Given the description of an element on the screen output the (x, y) to click on. 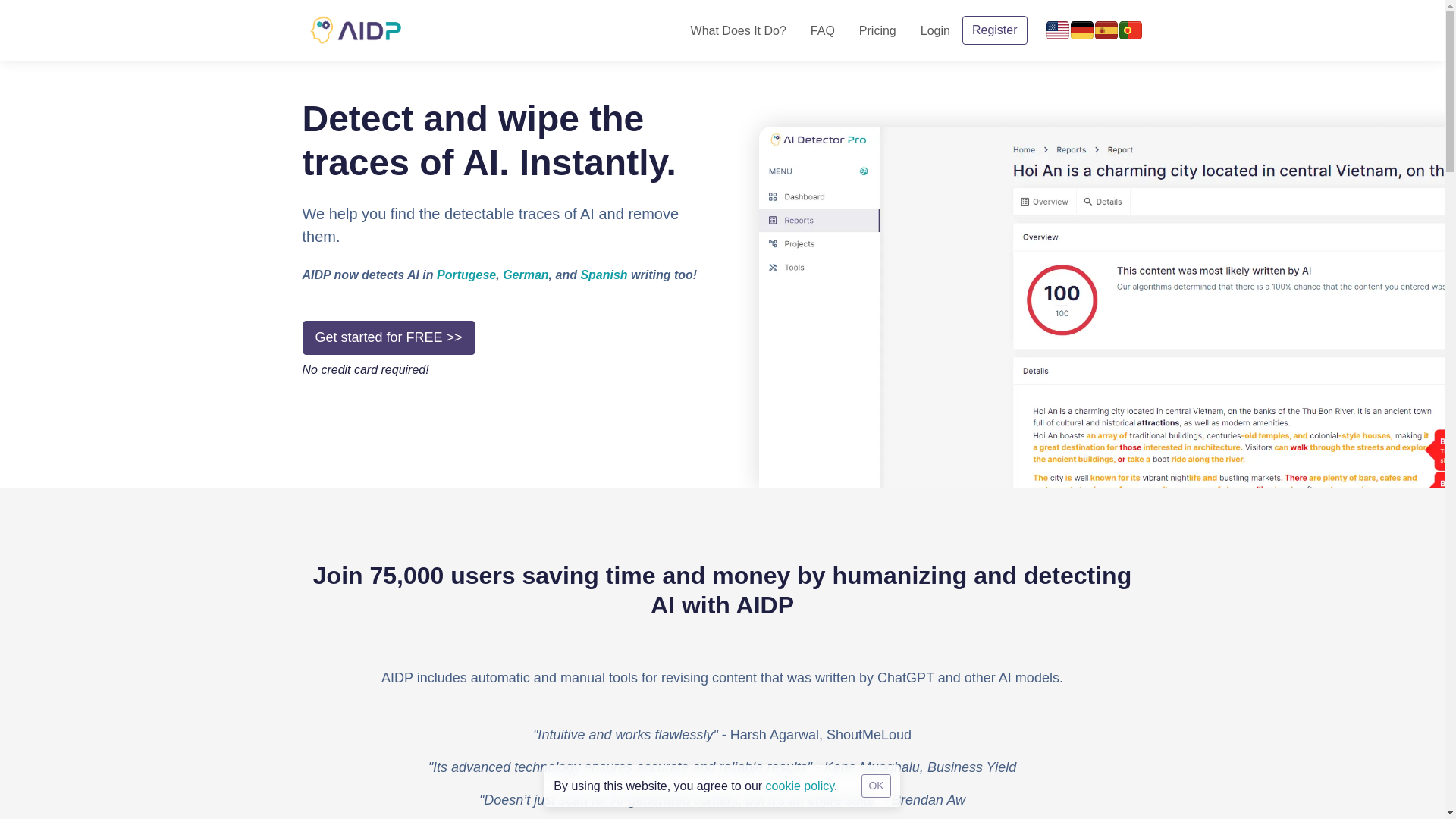
What Does It Do? (737, 28)
Login (935, 28)
Spanish (603, 274)
What Does It Do? (737, 28)
FAQ (822, 28)
Pricing (877, 28)
Register (994, 30)
Pricing (877, 28)
FAQ (822, 28)
German (525, 274)
Login (935, 28)
Portugese (466, 274)
